Given the description of an element on the screen output the (x, y) to click on. 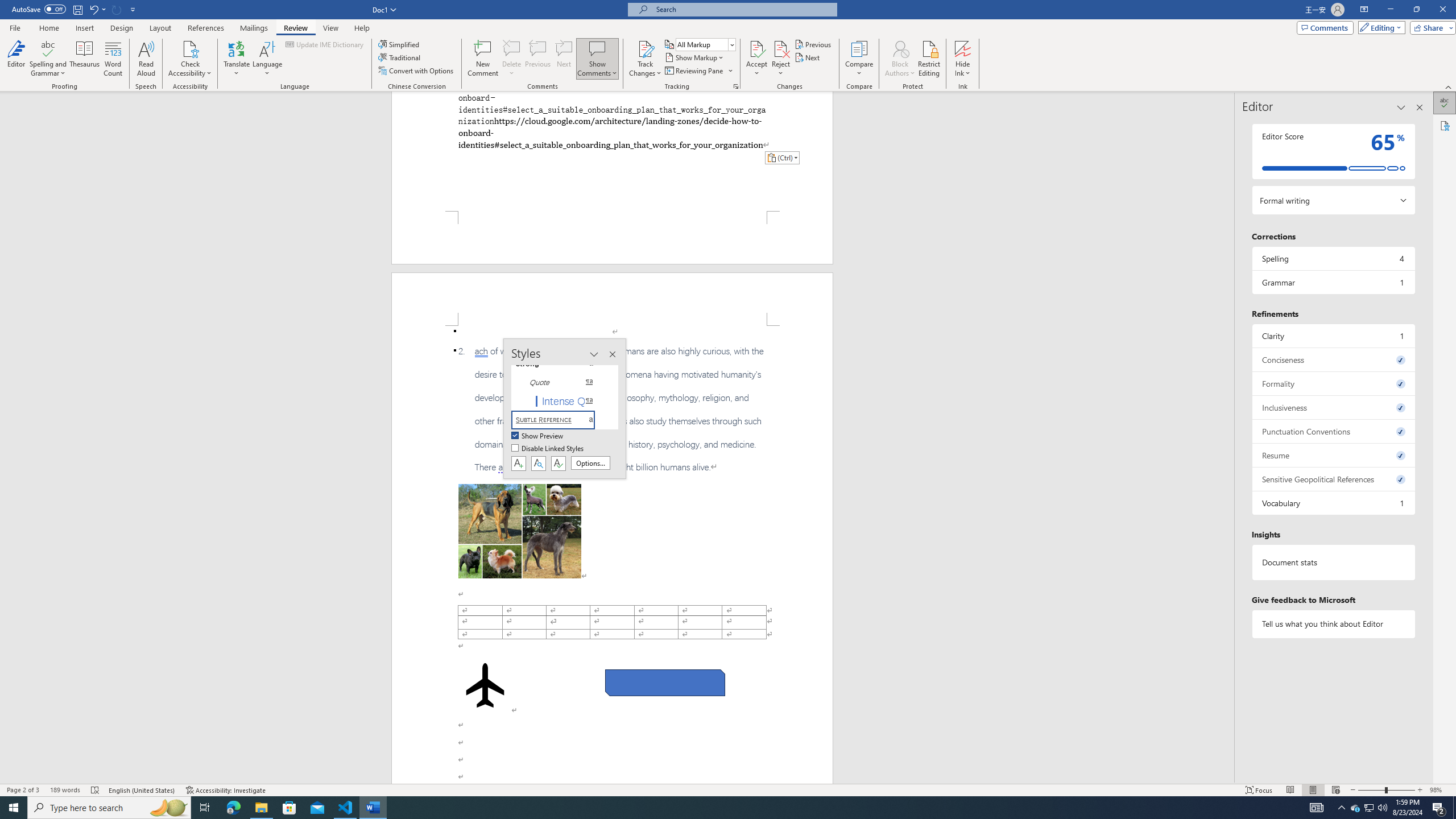
Undo Paste (92, 9)
Class: NetUIButton (558, 463)
Formality, 0 issues. Press space or enter to review items. (1333, 383)
Rectangle: Diagonal Corners Snipped 2 (665, 682)
Restrict Editing (929, 58)
Options... (590, 463)
Show Comments (597, 48)
Delete (511, 58)
Check Accessibility (189, 58)
